Given the description of an element on the screen output the (x, y) to click on. 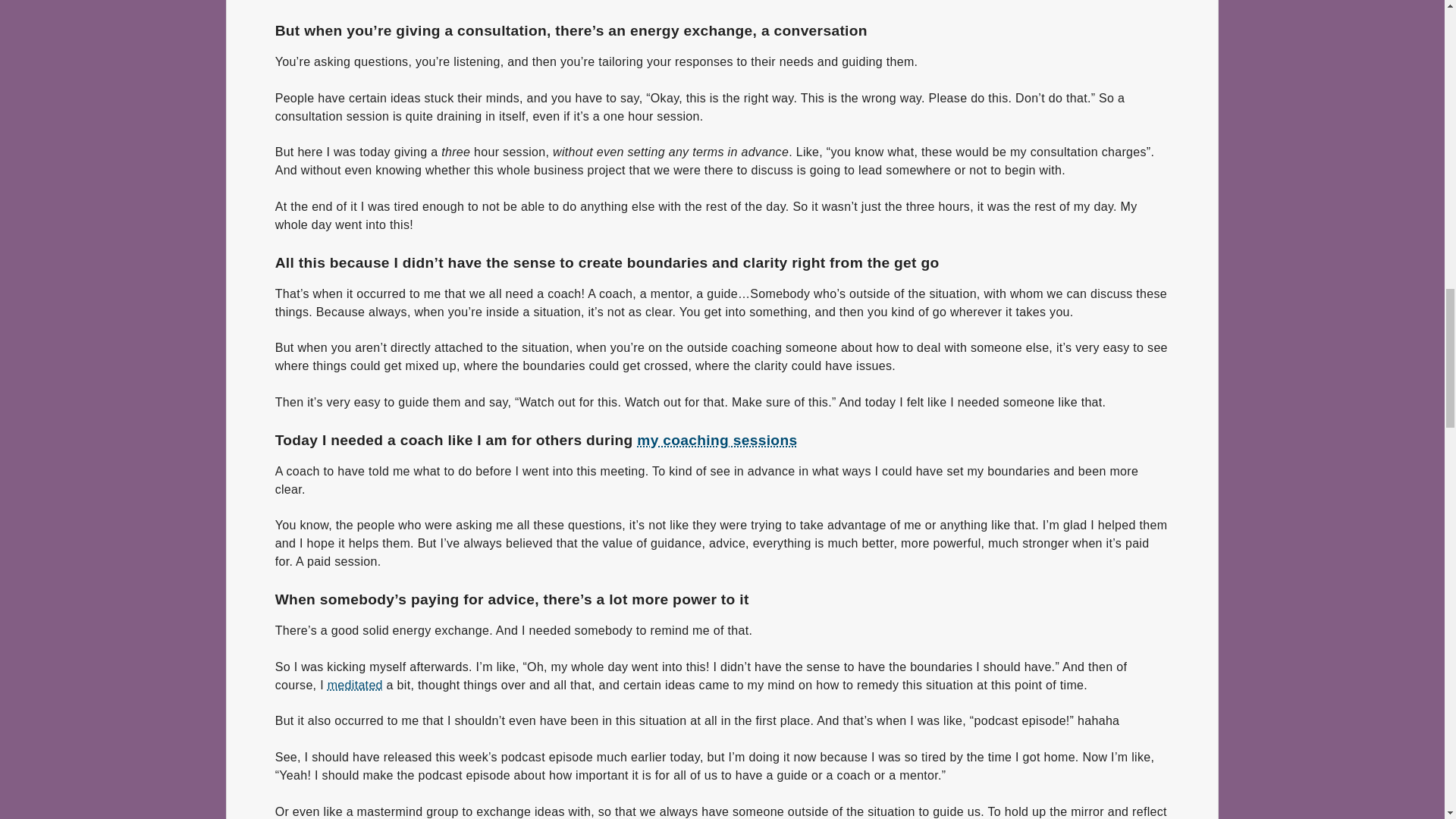
meditated (354, 685)
my coaching sessions (716, 440)
